Given the description of an element on the screen output the (x, y) to click on. 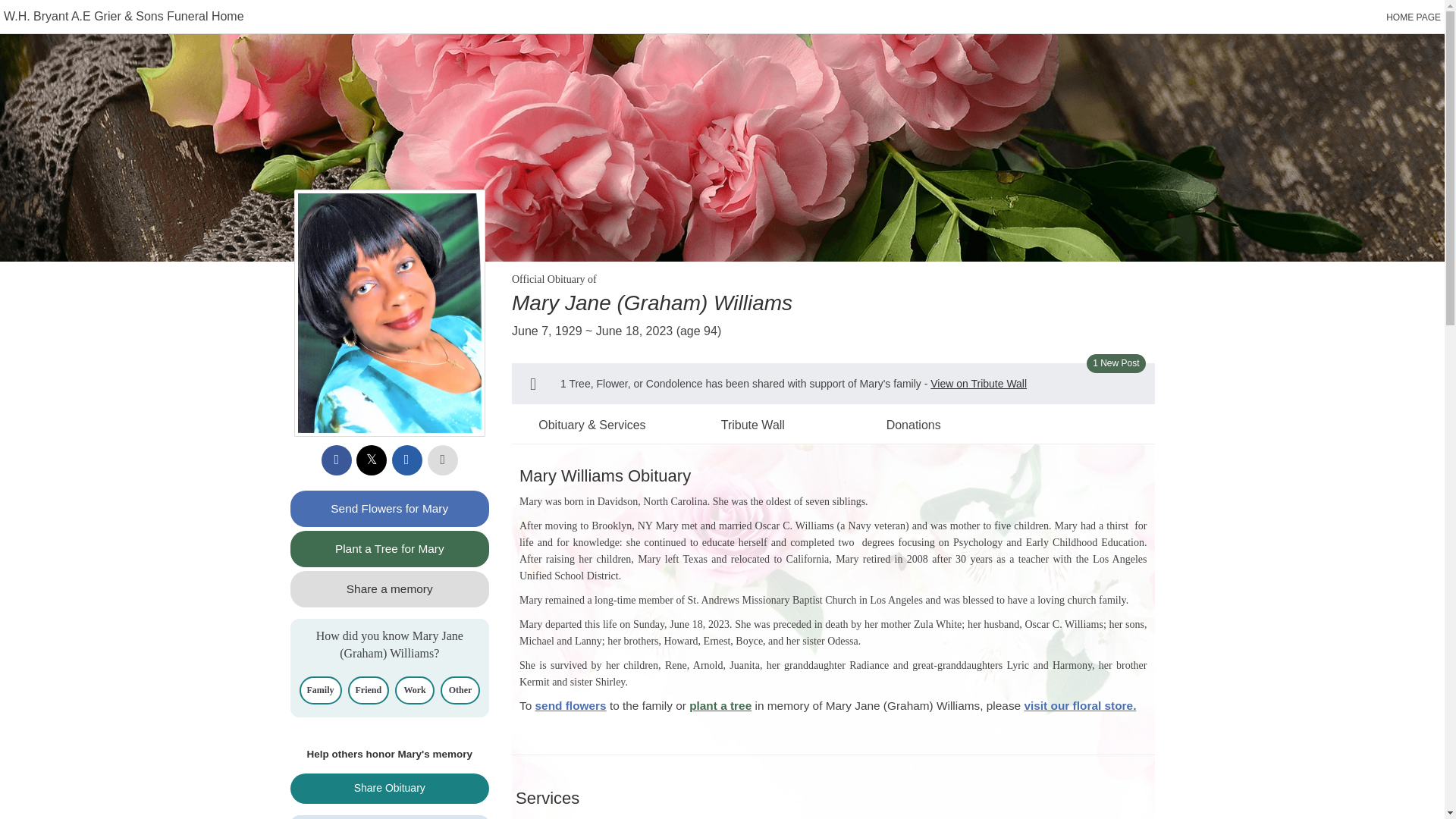
Plant a Tree for Mary (389, 548)
send flowers (571, 705)
Share via email (406, 460)
plant a tree (719, 705)
Share to Facebook (336, 460)
HOME PAGE (1413, 17)
visit our floral store. (1079, 705)
Printable copy (443, 460)
Share Obituary (389, 788)
View on Tribute Wall (978, 383)
Send Flowers for Mary (389, 508)
Share a memory (389, 588)
Share on X (371, 460)
